Given the description of an element on the screen output the (x, y) to click on. 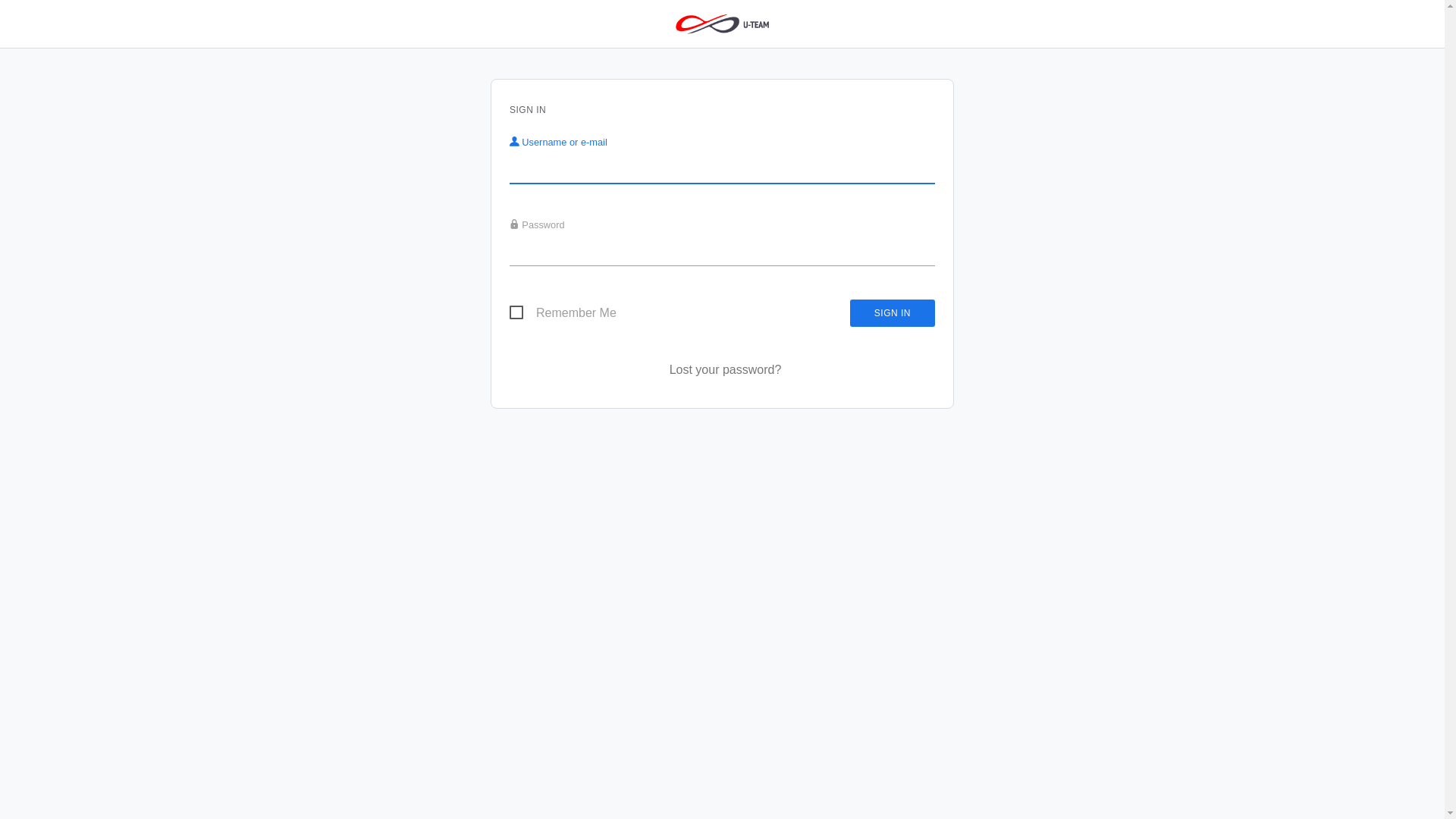
Lost your password? Element type: text (725, 369)
Sign in Element type: text (892, 312)
